Given the description of an element on the screen output the (x, y) to click on. 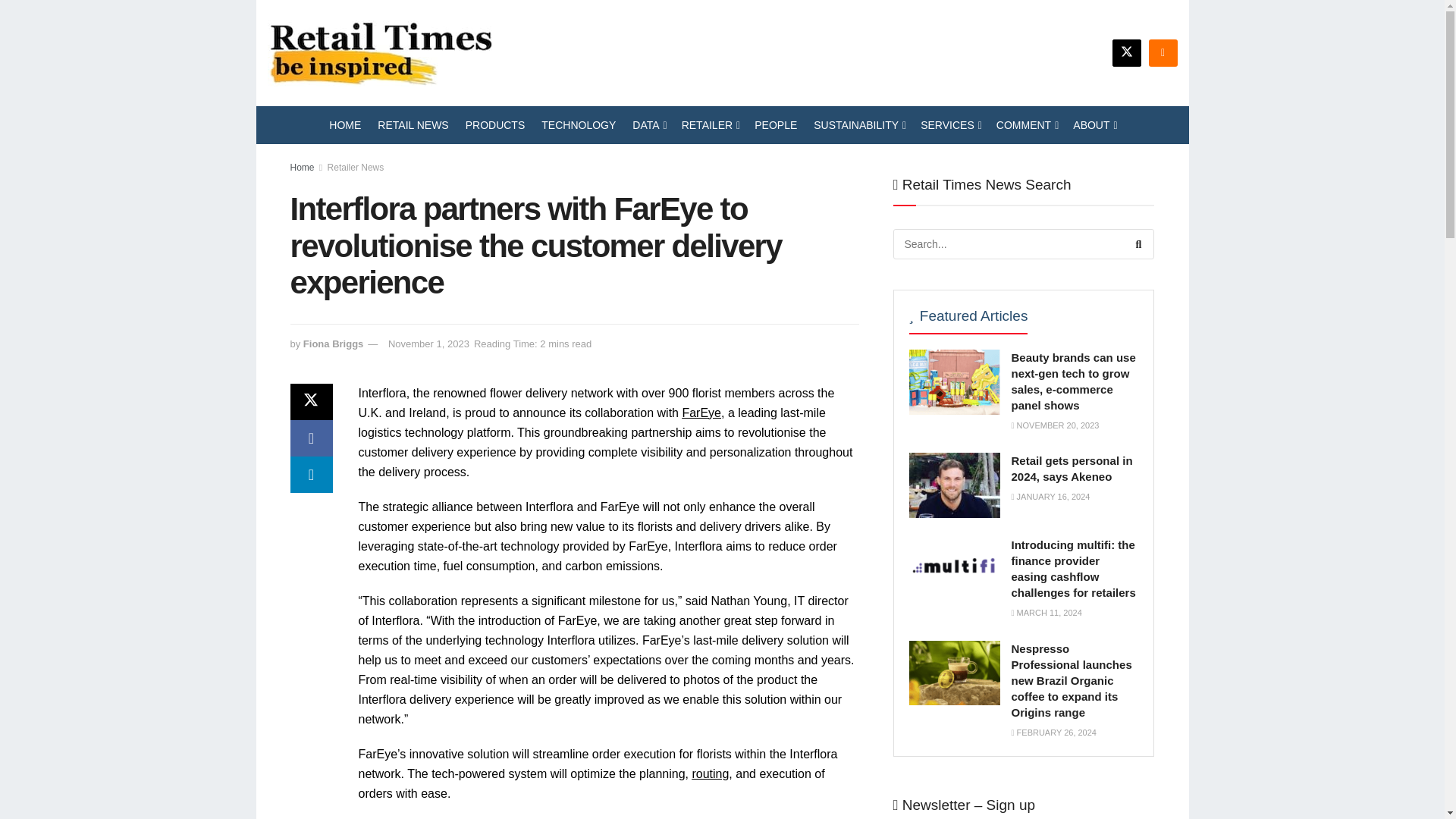
DATA (647, 124)
COMMENT (1026, 124)
HOME (345, 124)
PEOPLE (775, 124)
RETAILER (709, 124)
SERVICES (949, 124)
RETAIL NEWS (412, 124)
PRODUCTS (495, 124)
TECHNOLOGY (578, 124)
SUSTAINABILITY (858, 124)
ABOUT (1094, 124)
